Given the description of an element on the screen output the (x, y) to click on. 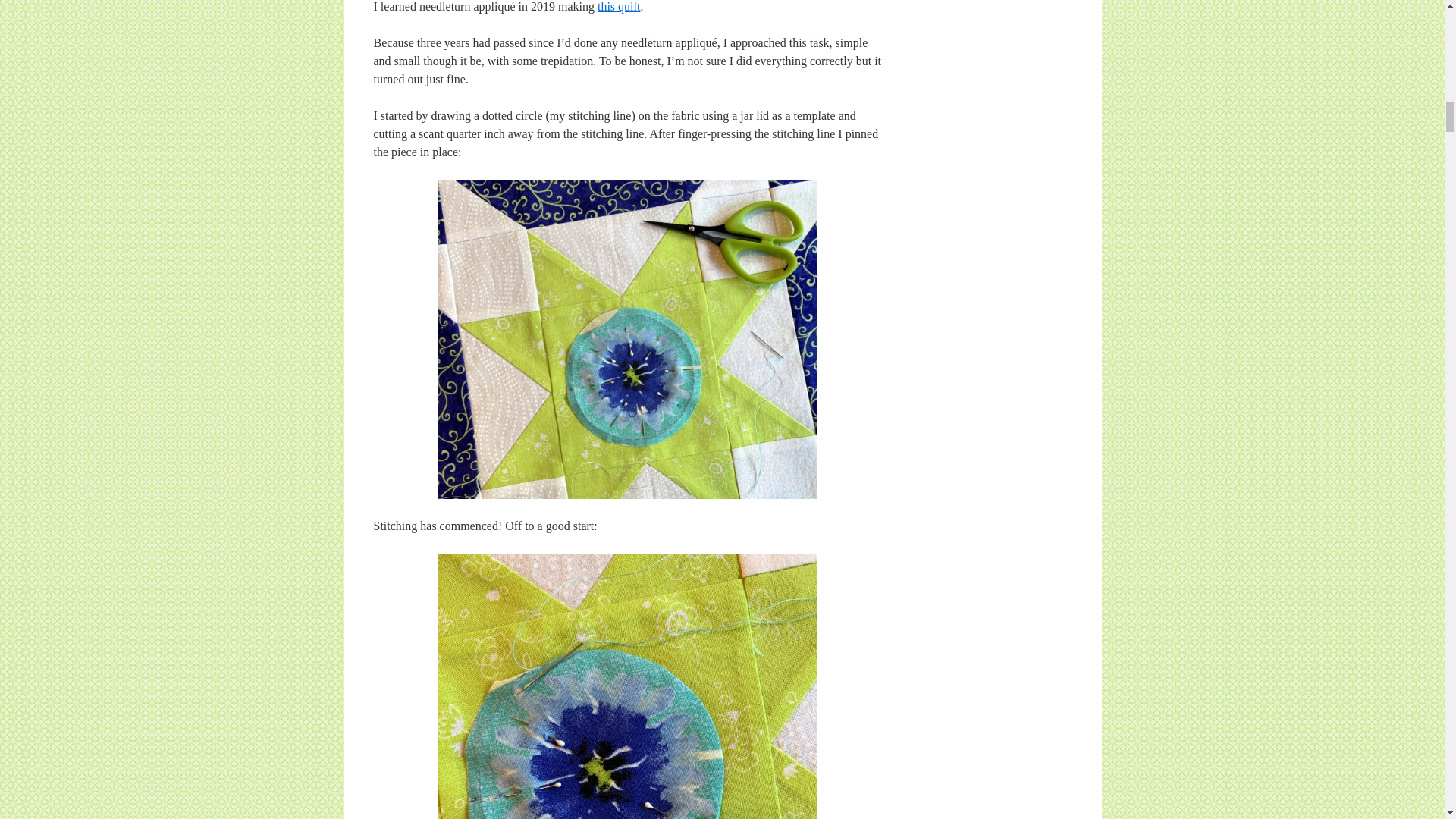
this quilt (618, 6)
